Given the description of an element on the screen output the (x, y) to click on. 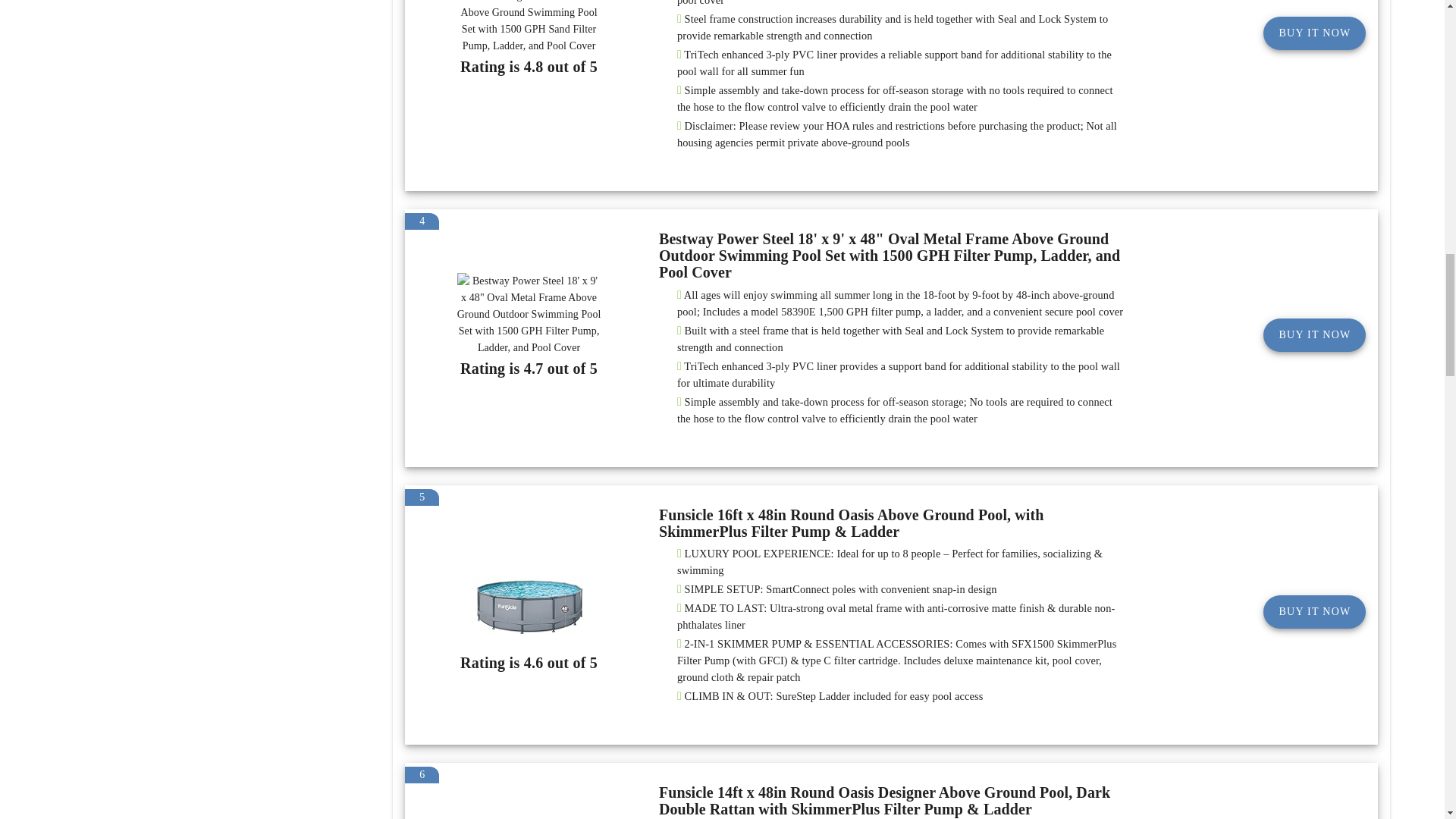
BUY IT NOW (1314, 611)
BUY IT NOW (1314, 32)
BUY IT NOW (1314, 335)
